Given the description of an element on the screen output the (x, y) to click on. 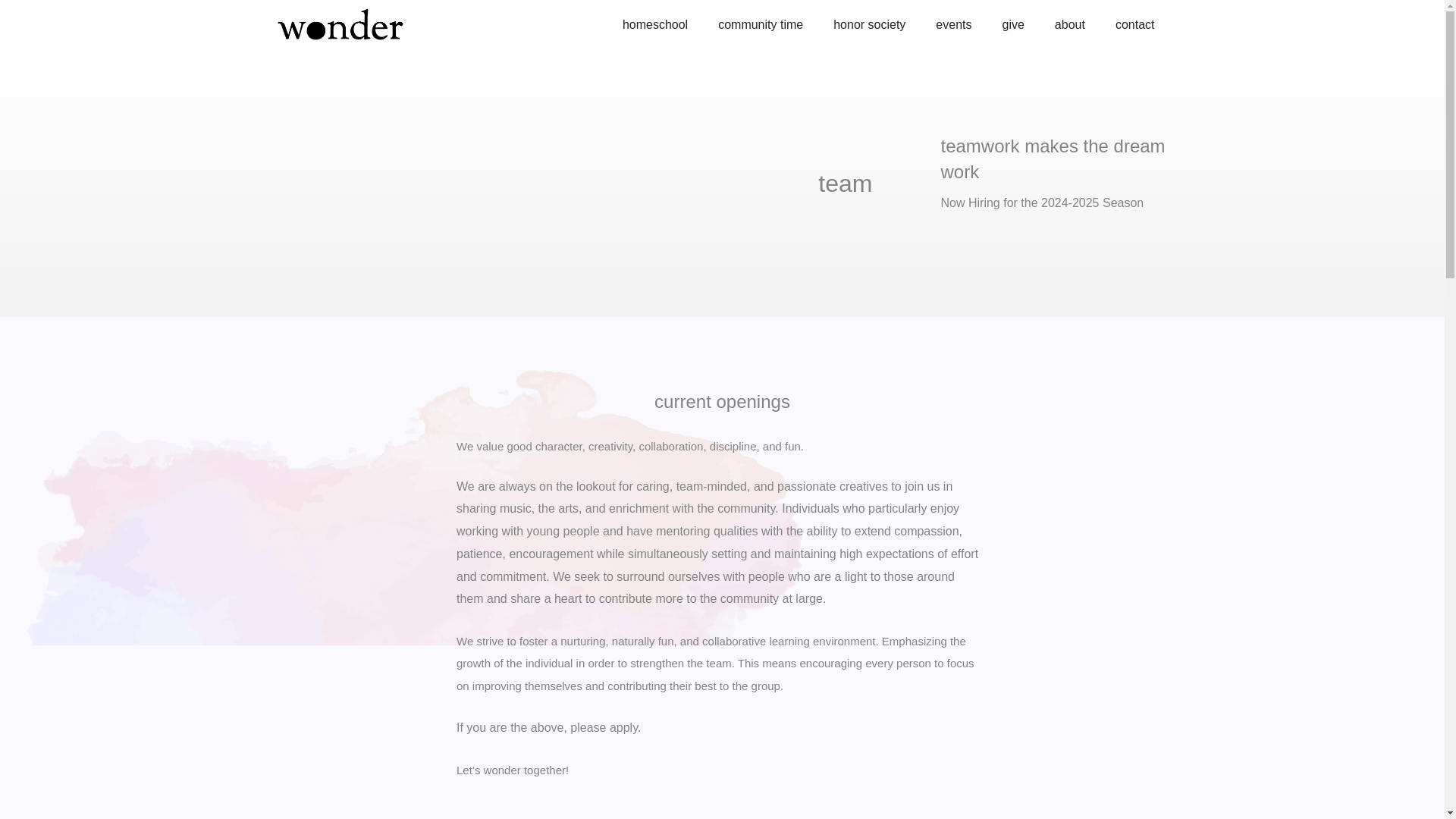
events (953, 24)
contact (1135, 24)
about (1069, 24)
homeschool (655, 24)
community time (760, 24)
give (1013, 24)
honor society (869, 24)
